Given the description of an element on the screen output the (x, y) to click on. 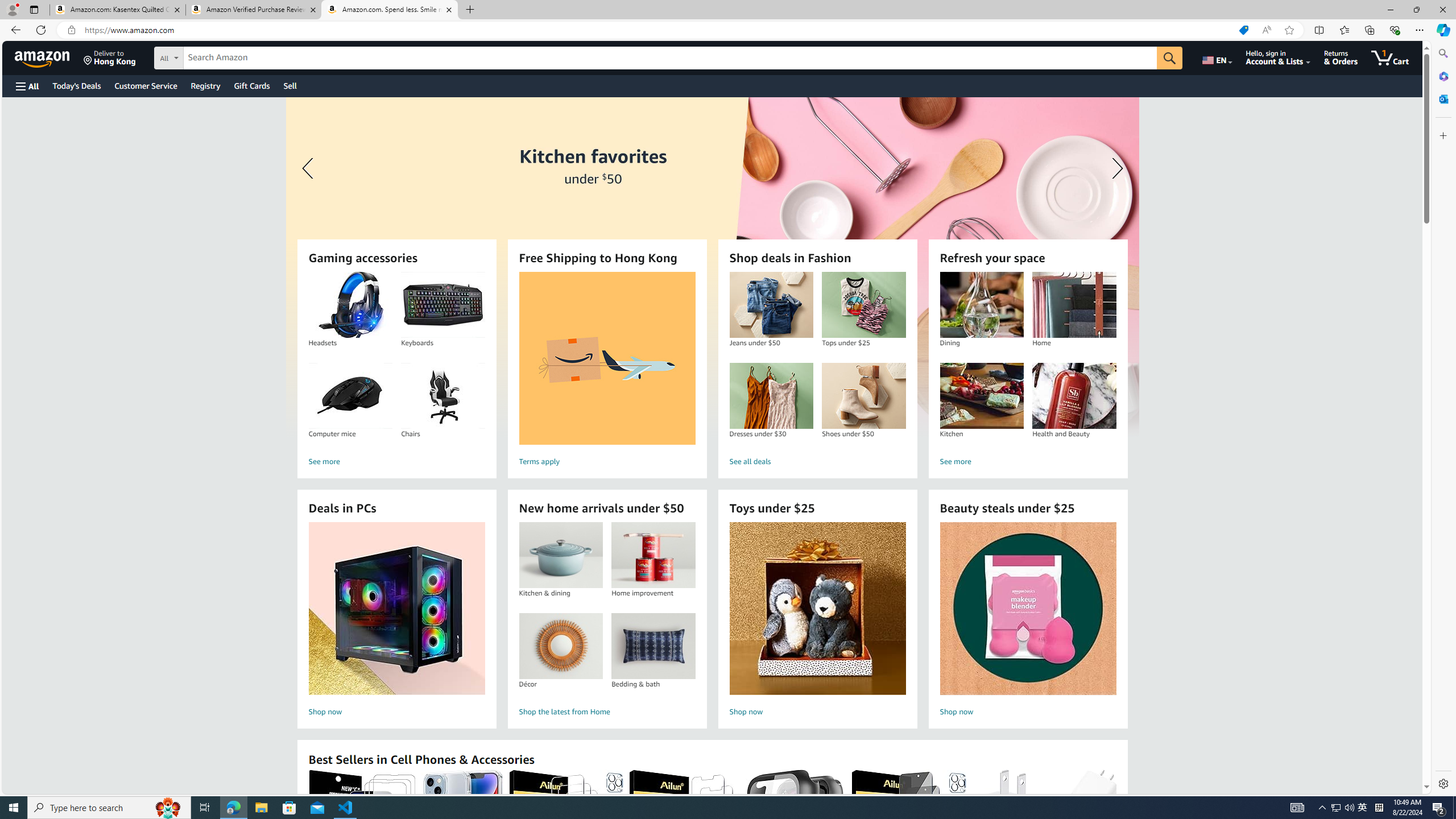
See all deals (817, 461)
Dining (981, 304)
Shoes under $50 (863, 395)
Health and Beauty (1074, 395)
Dresses under $30 (770, 395)
Search Amazon (670, 57)
Deliver to Hong Kong (109, 57)
